Given the description of an element on the screen output the (x, y) to click on. 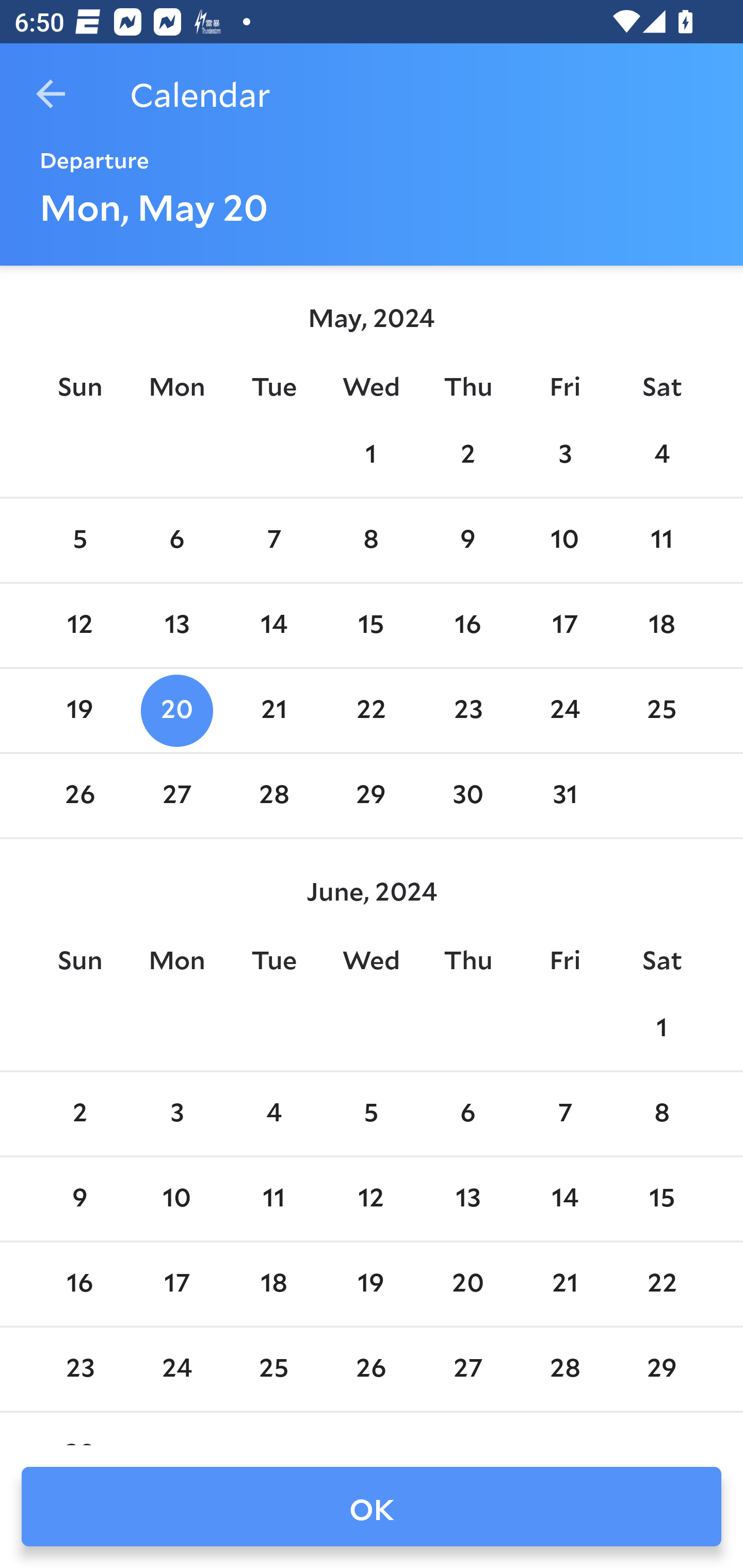
Navigate up (50, 93)
1 (371, 454)
2 (467, 454)
3 (565, 454)
4 (661, 454)
5 (79, 540)
6 (177, 540)
7 (273, 540)
8 (371, 540)
9 (467, 540)
10 (565, 540)
11 (661, 540)
12 (79, 625)
13 (177, 625)
14 (273, 625)
15 (371, 625)
16 (467, 625)
17 (565, 625)
18 (661, 625)
19 (79, 710)
20 (177, 710)
21 (273, 710)
22 (371, 710)
23 (467, 710)
24 (565, 710)
25 (661, 710)
26 (79, 796)
27 (177, 796)
28 (273, 796)
29 (371, 796)
30 (467, 796)
31 (565, 796)
1 (661, 1028)
2 (79, 1114)
3 (177, 1114)
4 (273, 1114)
5 (371, 1114)
6 (467, 1114)
7 (565, 1114)
8 (661, 1114)
9 (79, 1199)
10 (177, 1199)
11 (273, 1199)
12 (371, 1199)
13 (467, 1199)
14 (565, 1199)
15 (661, 1199)
16 (79, 1284)
17 (177, 1284)
18 (273, 1284)
